Given the description of an element on the screen output the (x, y) to click on. 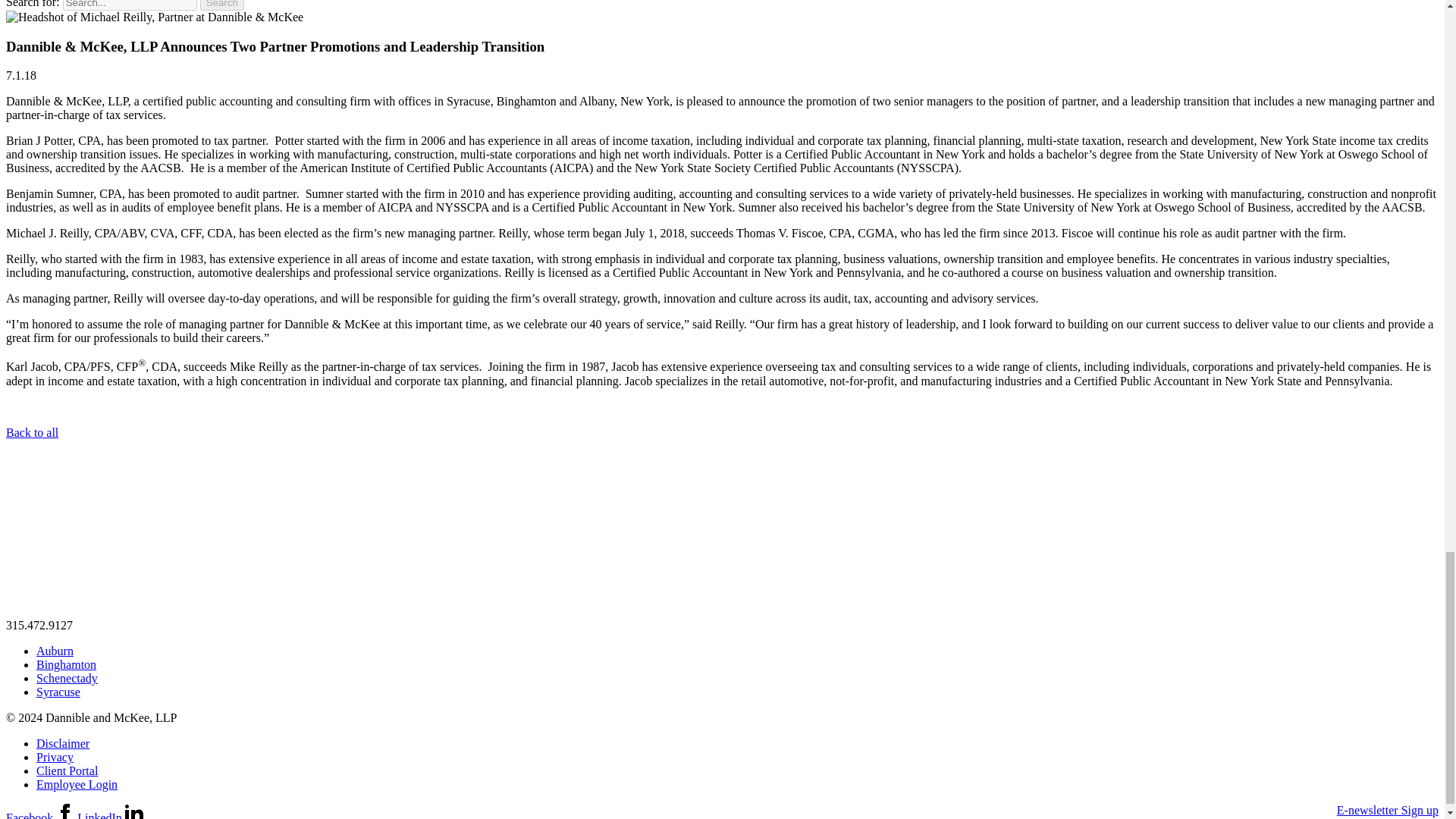
Search (222, 5)
Search for: (129, 5)
Search (222, 5)
